Given the description of an element on the screen output the (x, y) to click on. 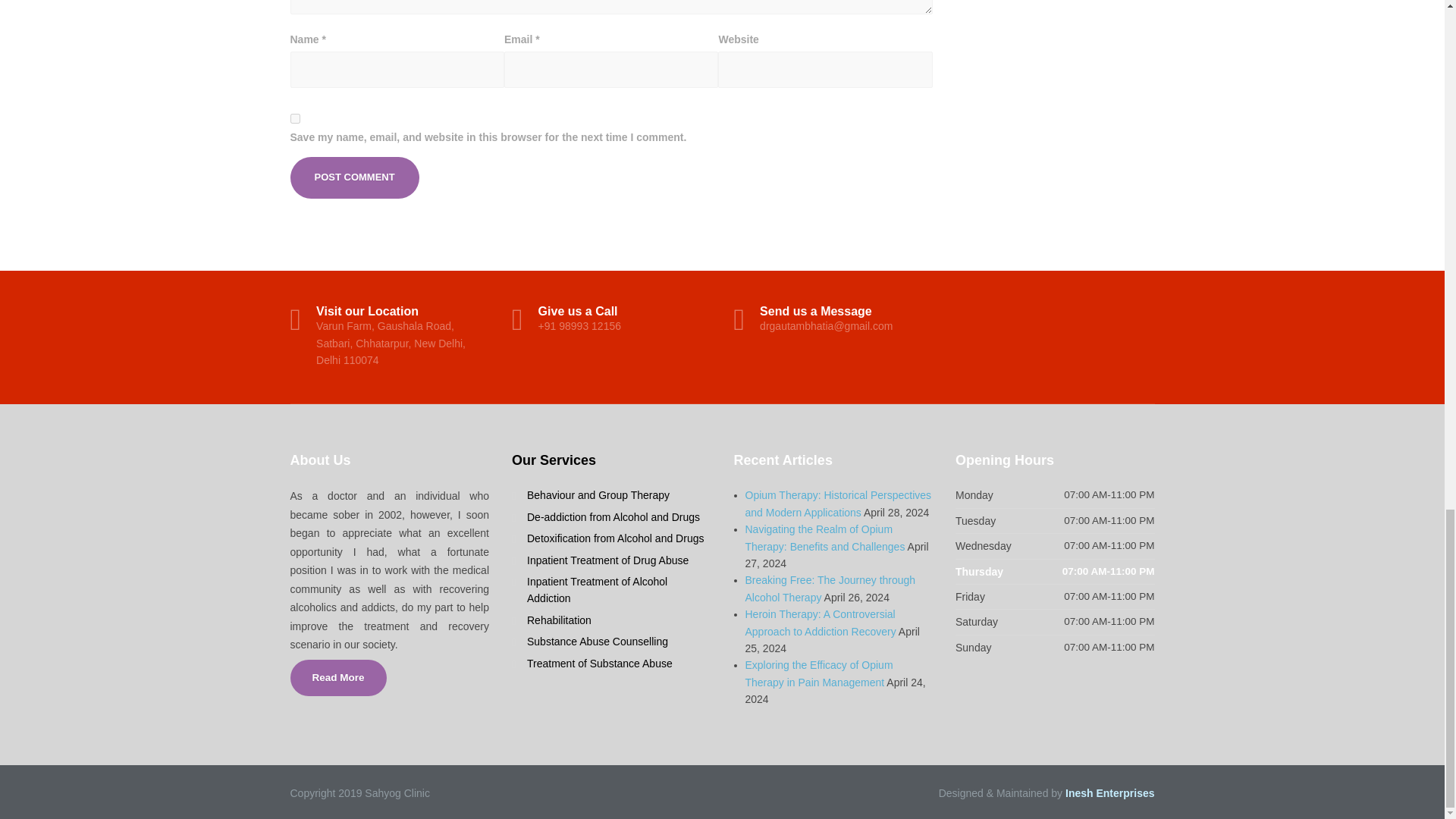
yes (294, 118)
Post Comment (354, 178)
